Given the description of an element on the screen output the (x, y) to click on. 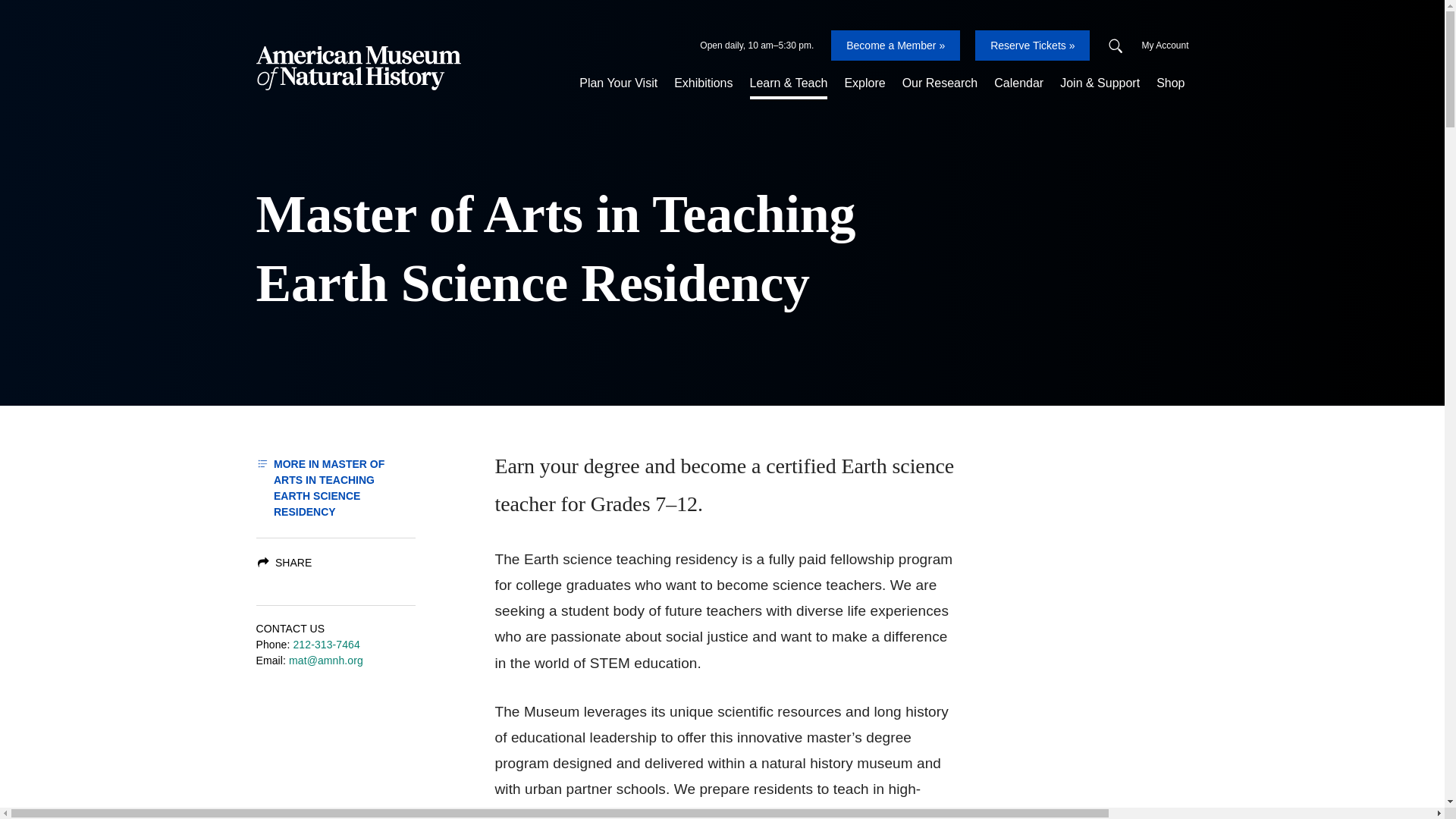
Reserve Tickets (1032, 45)
Become a Member (895, 45)
Exhibitions (702, 84)
Plan Your Visit (618, 84)
My Account (1164, 45)
